Given the description of an element on the screen output the (x, y) to click on. 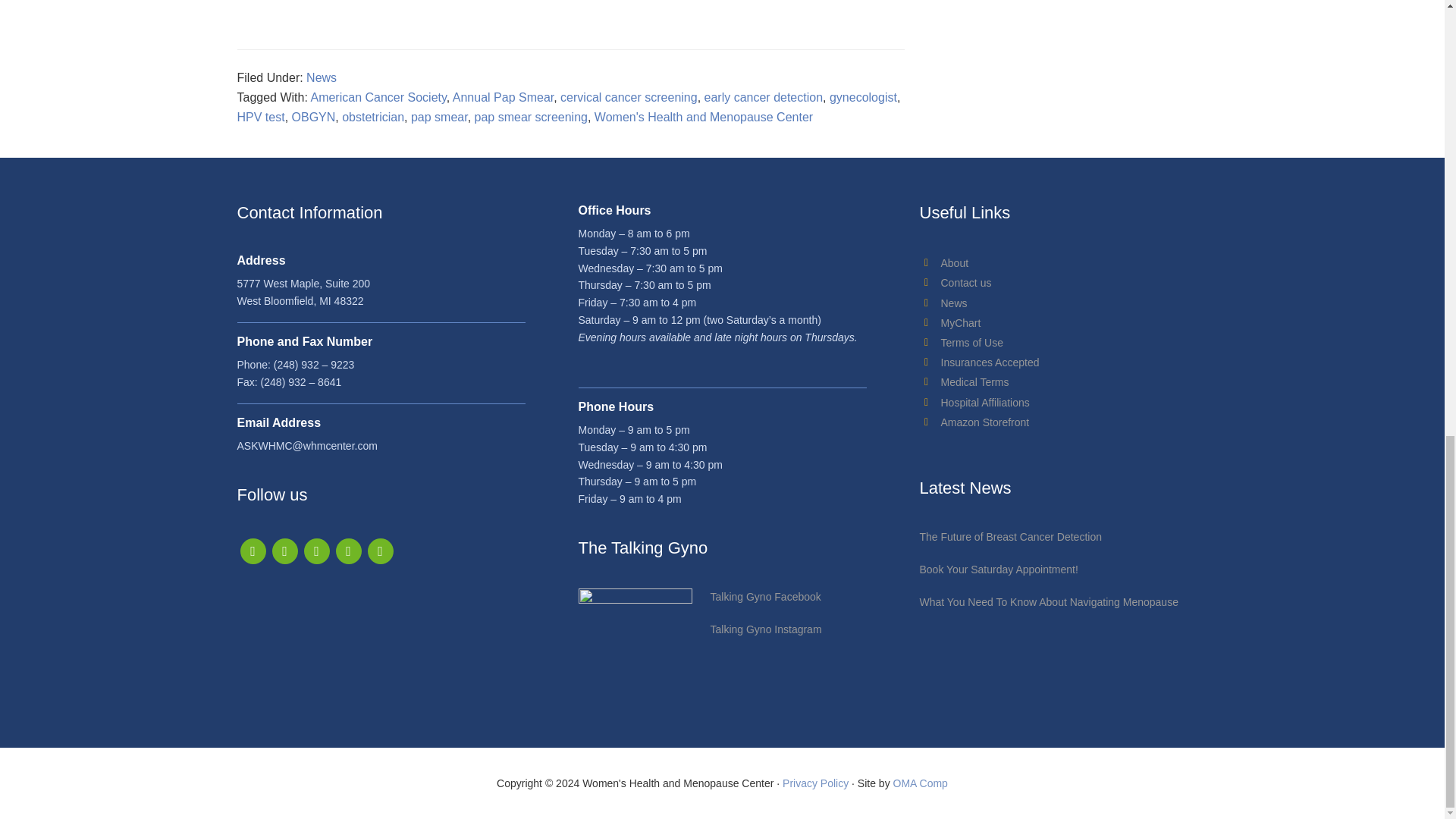
Instagram (347, 550)
Default Label (379, 550)
Facebook (252, 550)
Twitter (283, 550)
